Given the description of an element on the screen output the (x, y) to click on. 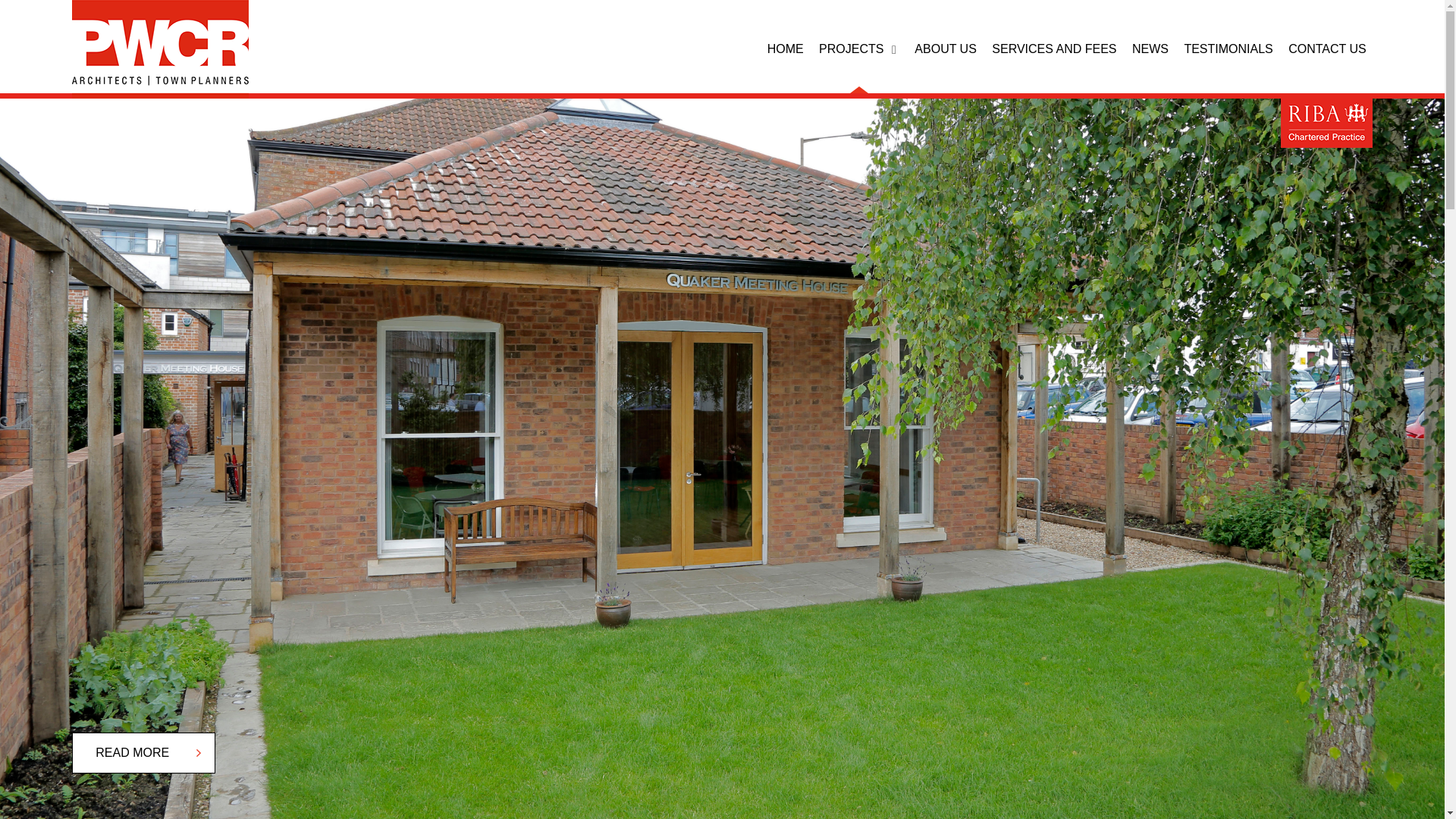
SERVICES AND FEES (1053, 50)
PROJECTS (858, 50)
TESTIMONIALS (1227, 50)
HOME (785, 50)
CONTACT US (1327, 50)
ABOUT US (945, 50)
NEWS (1150, 50)
READ MORE (143, 752)
